Given the description of an element on the screen output the (x, y) to click on. 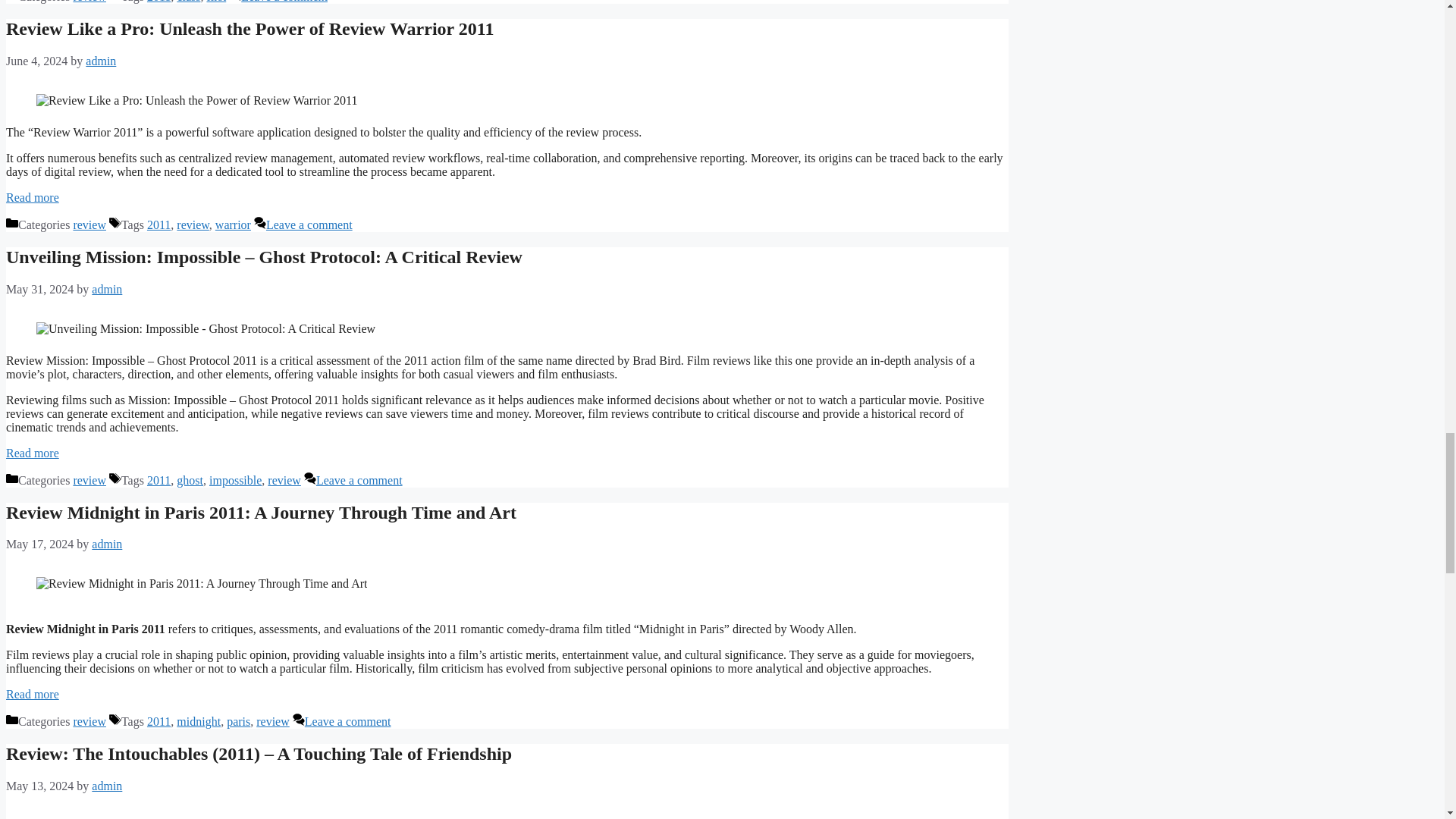
admin (106, 288)
Read more (32, 452)
View all posts by admin (106, 785)
class (188, 1)
Review Like a Pro: Unleash the Power of Review Warrior 2011 (249, 28)
View all posts by admin (100, 60)
View all posts by admin (106, 543)
Review Like a Pro: Unleash the Power of Review Warrior 2011 (32, 196)
admin (100, 60)
first (215, 1)
